Given the description of an element on the screen output the (x, y) to click on. 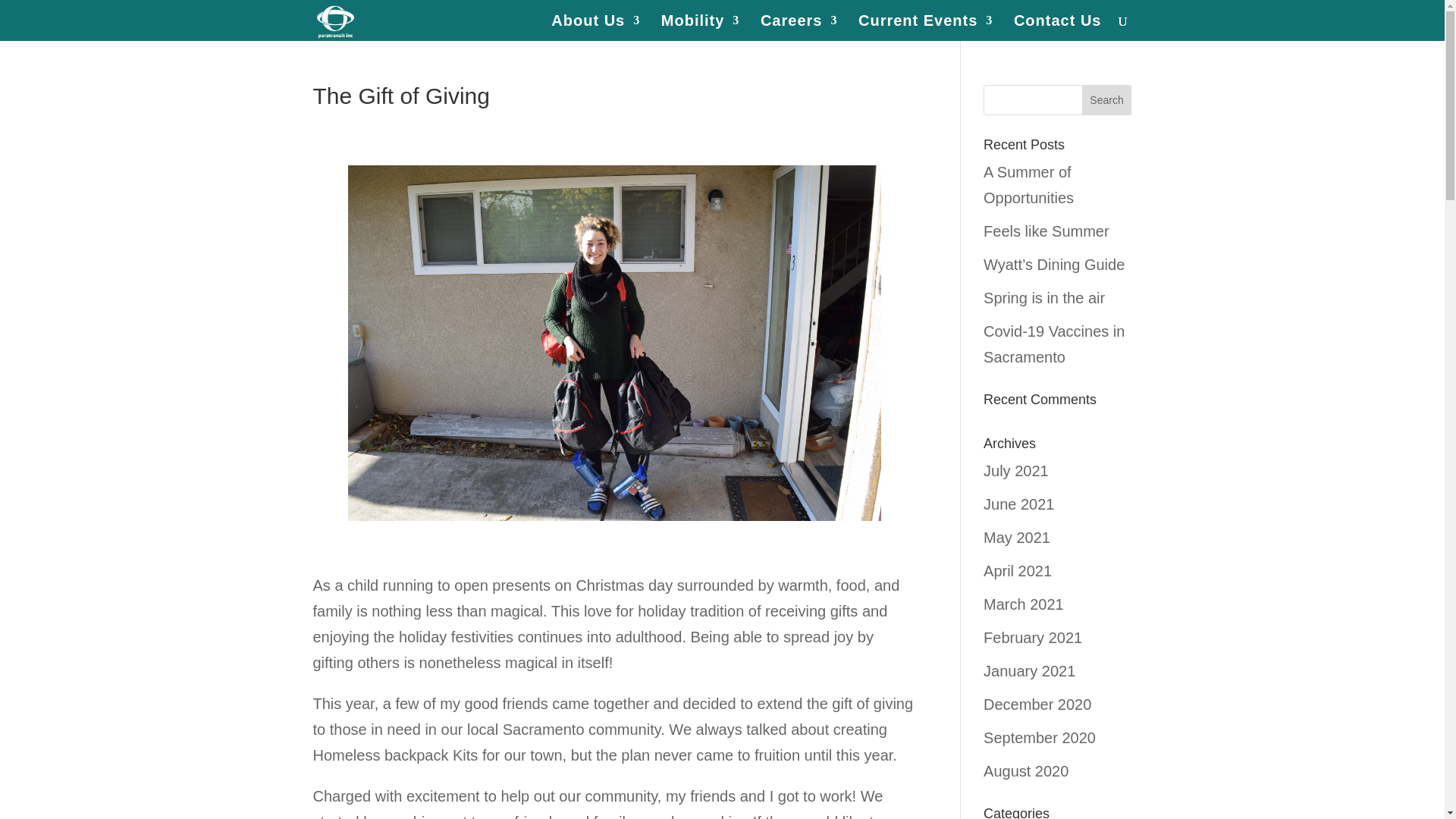
Mobility (700, 27)
Contact Us (1057, 27)
Current Events (925, 27)
Search (1106, 100)
About Us (595, 27)
Careers (799, 27)
